Given the description of an element on the screen output the (x, y) to click on. 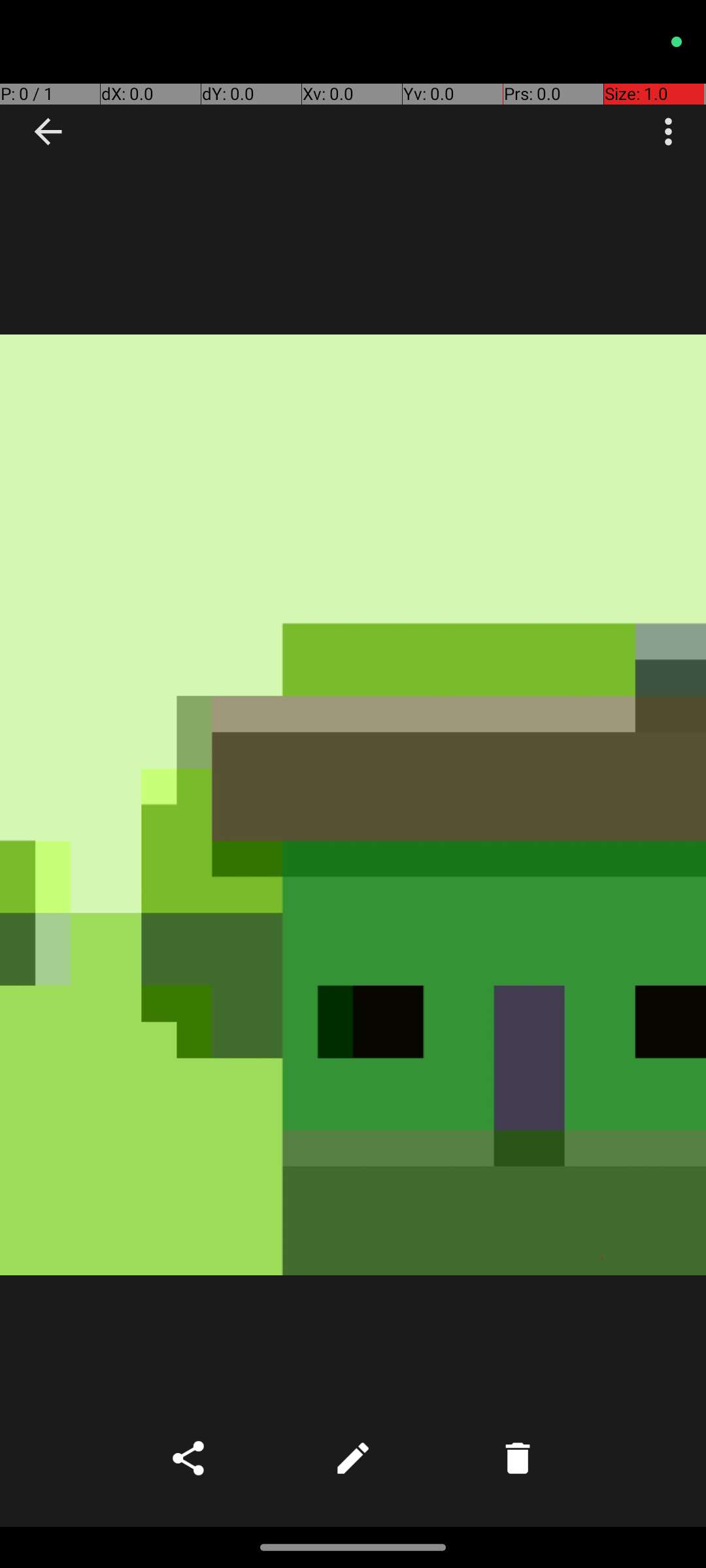
Photo taken on Oct 15, 2023 15:34:55 Element type: android.widget.ImageView (353, 804)
